Given the description of an element on the screen output the (x, y) to click on. 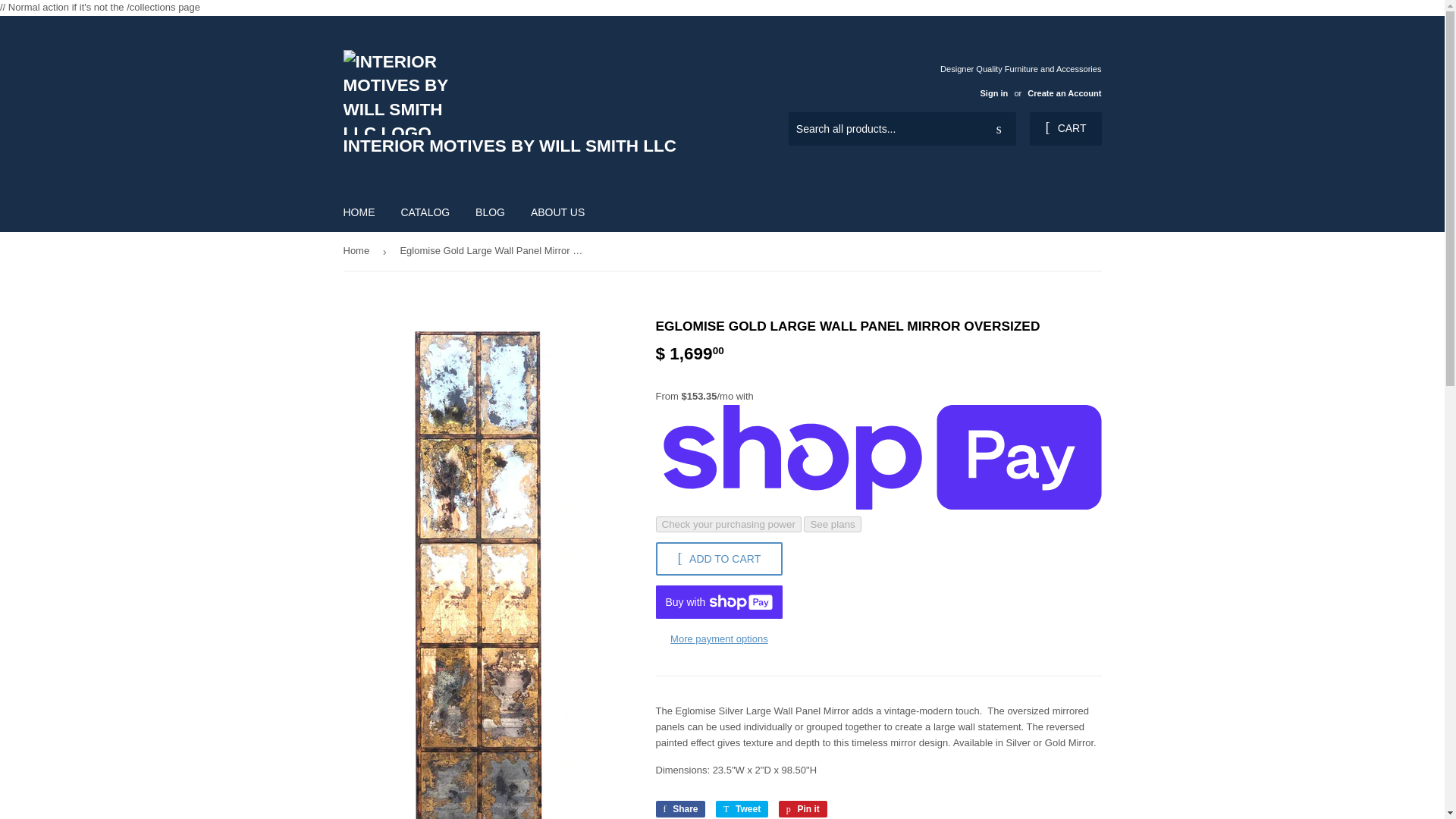
Share on Facebook (679, 808)
Sign in (993, 92)
HOME (802, 808)
Pin on Pinterest (359, 211)
BLOG (802, 808)
CART (490, 211)
INTERIOR MOTIVES BY WILL SMITH LLC (1064, 128)
